Given the description of an element on the screen output the (x, y) to click on. 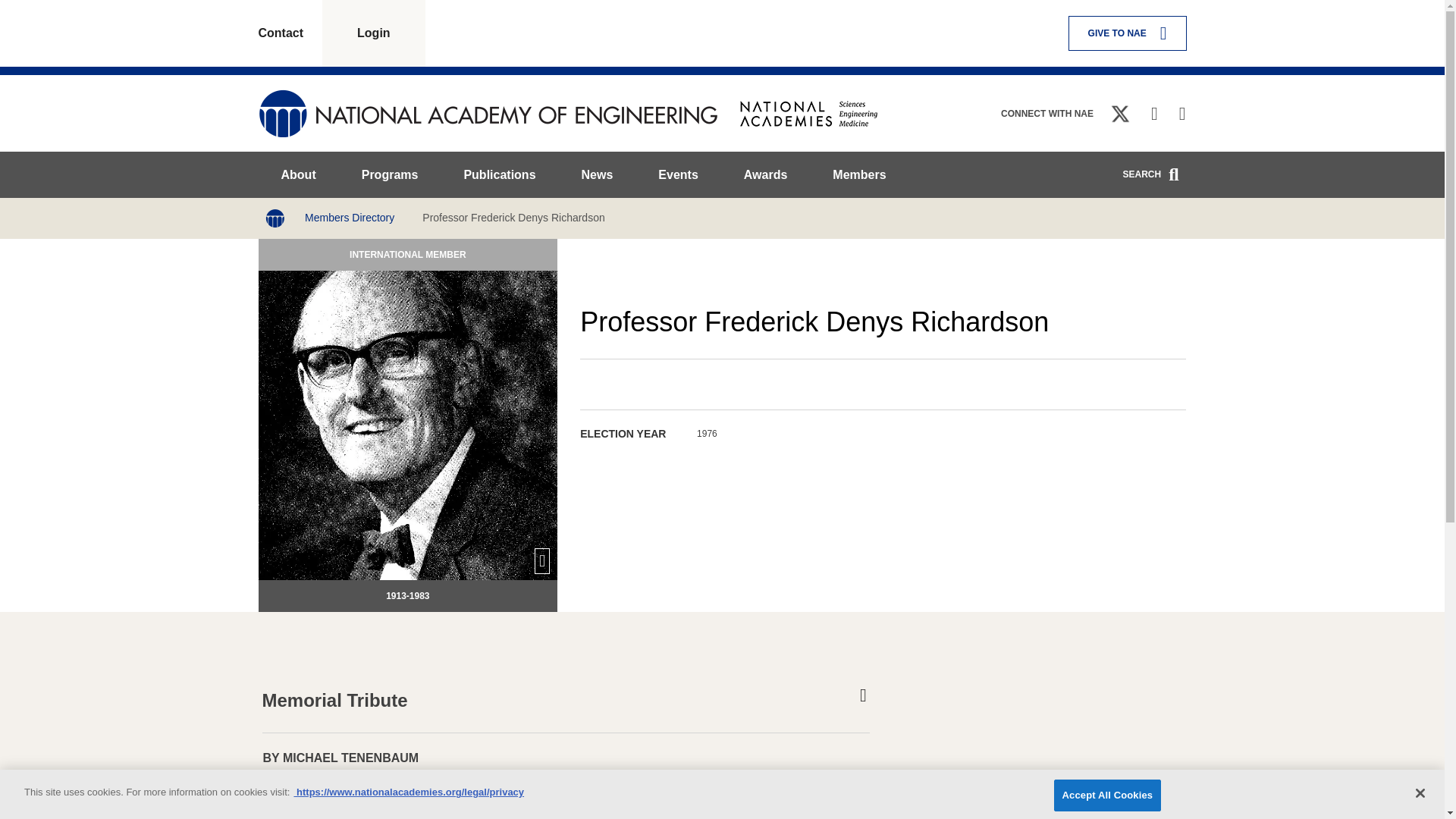
 Professor Frederick Denys Richardson (513, 217)
Login (373, 33)
Members Directory (349, 217)
GIVE TO NAE (1127, 32)
Contact (289, 33)
